Given the description of an element on the screen output the (x, y) to click on. 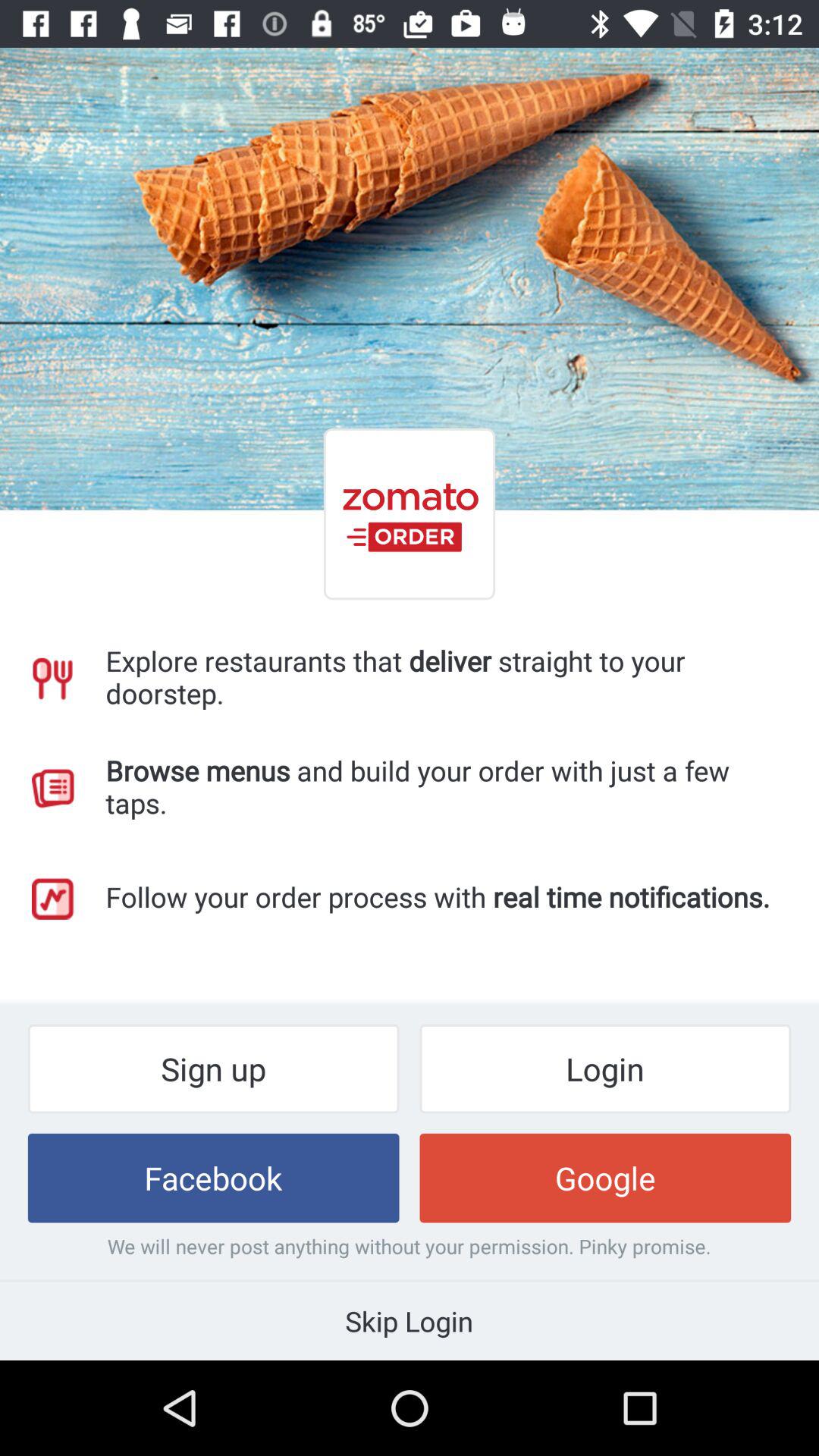
tap the item to the left of google icon (213, 1177)
